Given the description of an element on the screen output the (x, y) to click on. 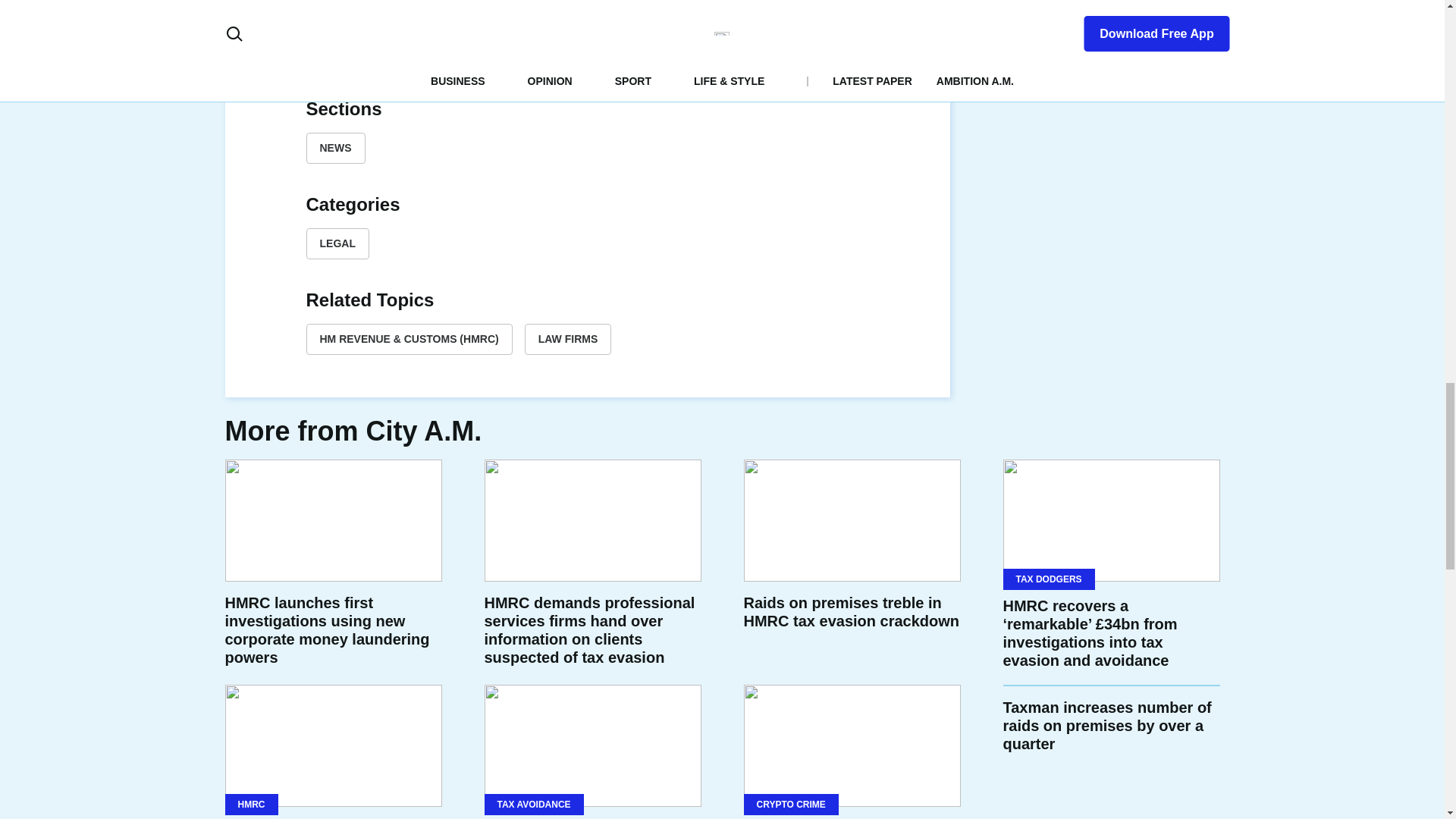
X (550, 59)
WhatsApp (622, 59)
LinkedIn (586, 59)
Facebook (513, 59)
Email (659, 59)
